Given the description of an element on the screen output the (x, y) to click on. 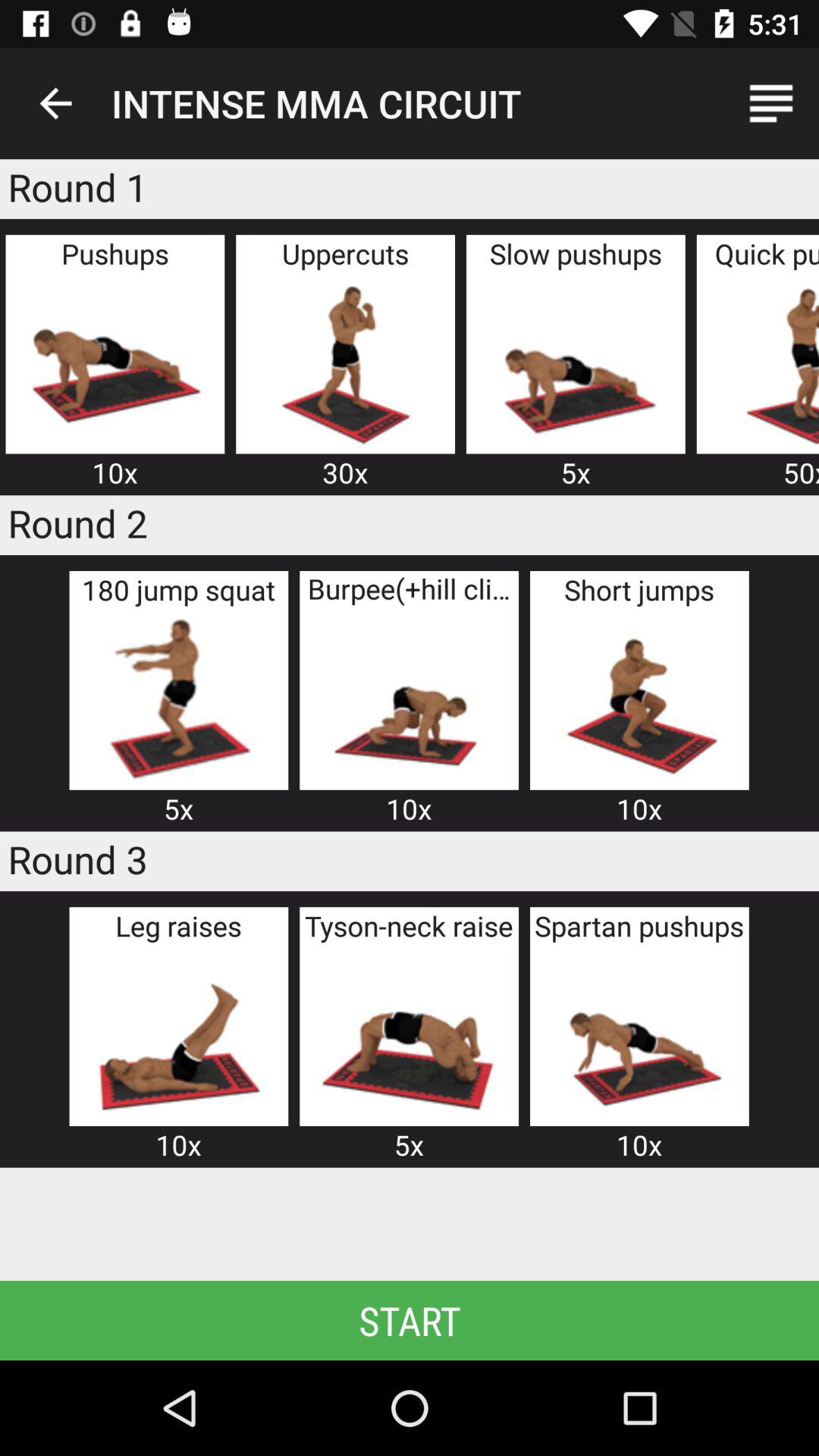
toggle spartan pushups exercise (638, 1034)
